Given the description of an element on the screen output the (x, y) to click on. 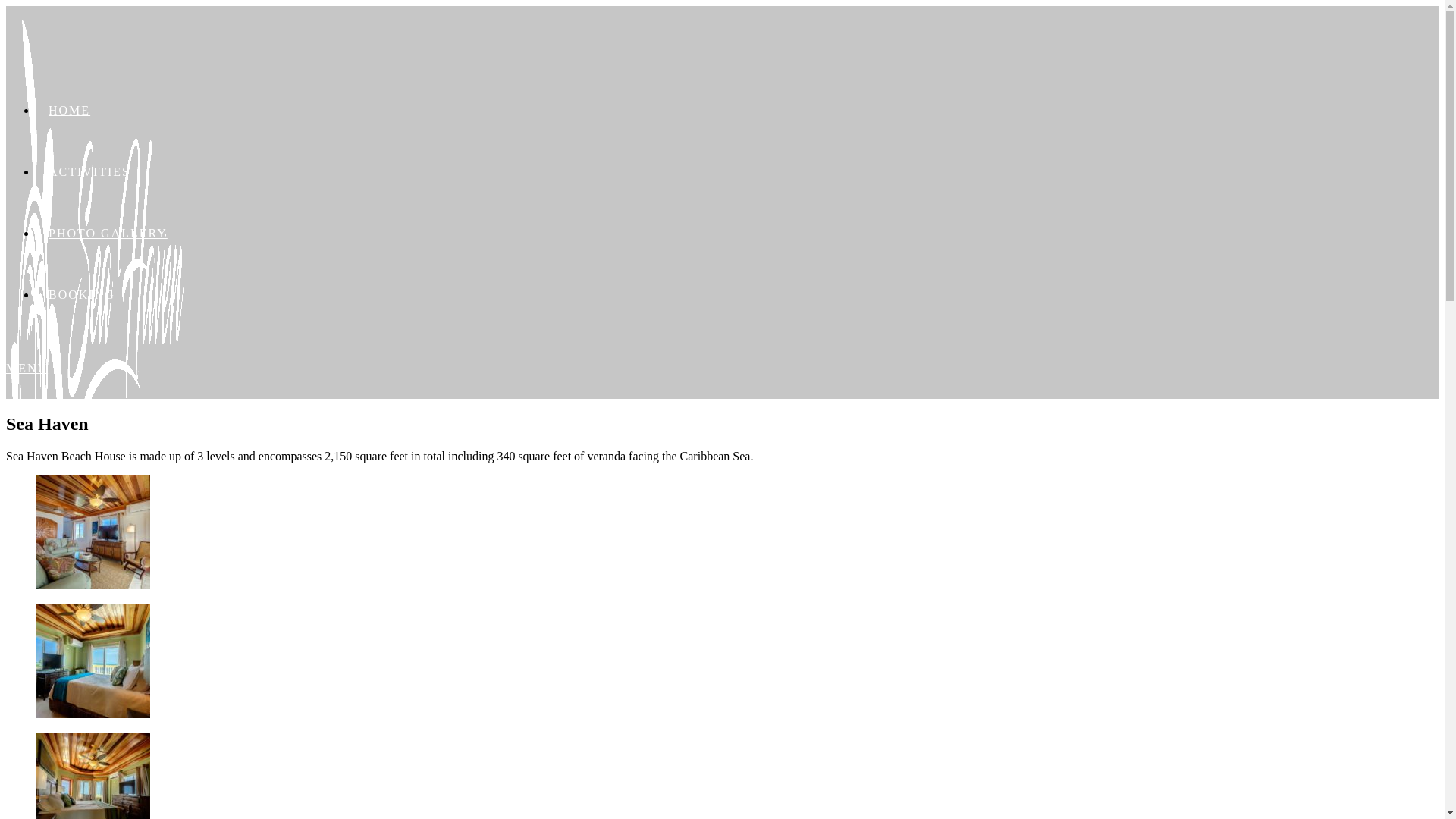
ACTIVITIES Element type: text (89, 171)
HOME Element type: text (69, 109)
BOOKING Element type: text (81, 294)
PHOTO GALLERY Element type: text (107, 232)
MENU Element type: text (26, 367)
